Given the description of an element on the screen output the (x, y) to click on. 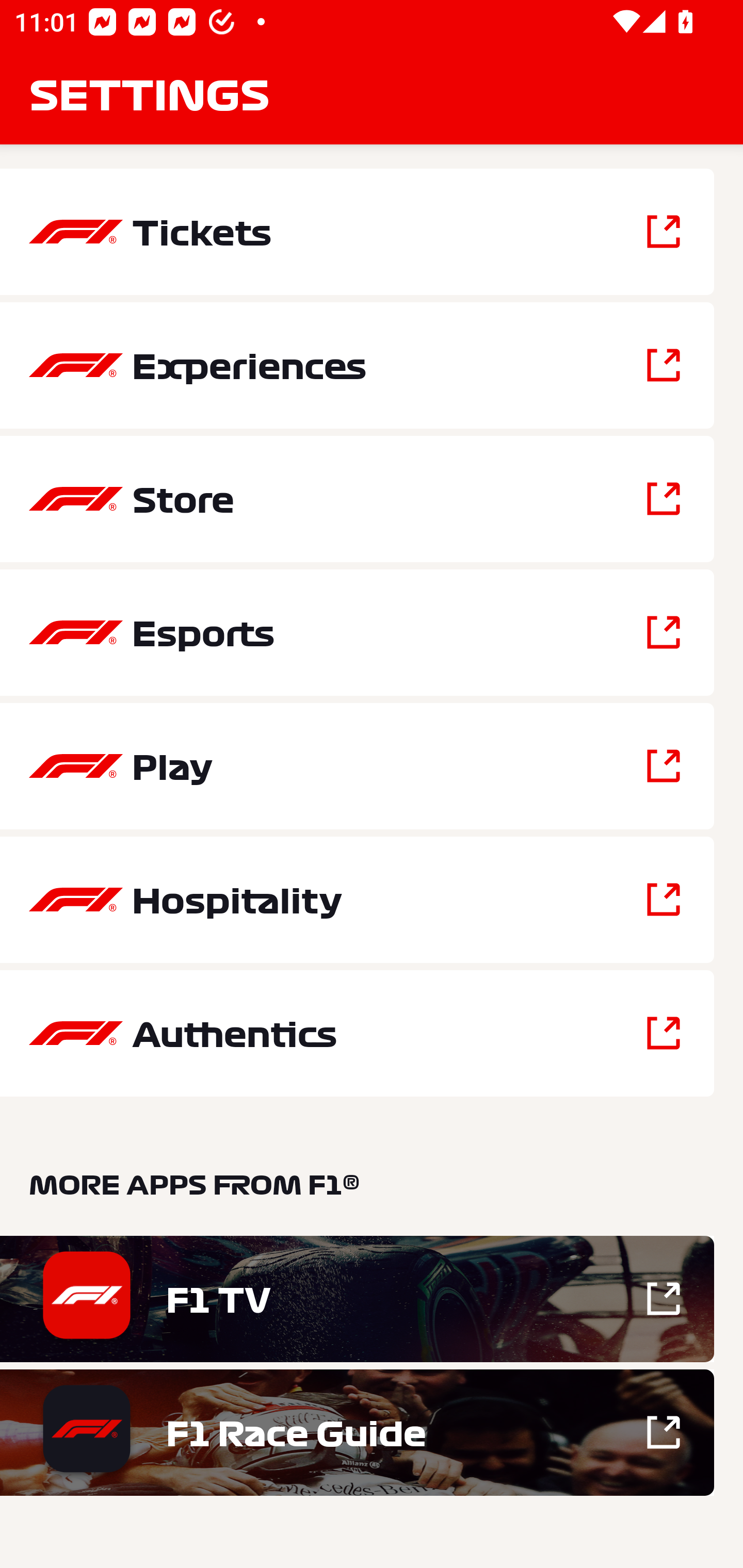
Tickets (357, 231)
Experiences (357, 365)
Store (357, 498)
Esports (357, 632)
Play (357, 765)
Hospitality (357, 899)
Authentics (357, 1033)
F1 TV (357, 1298)
F1 Race Guide (357, 1431)
